Given the description of an element on the screen output the (x, y) to click on. 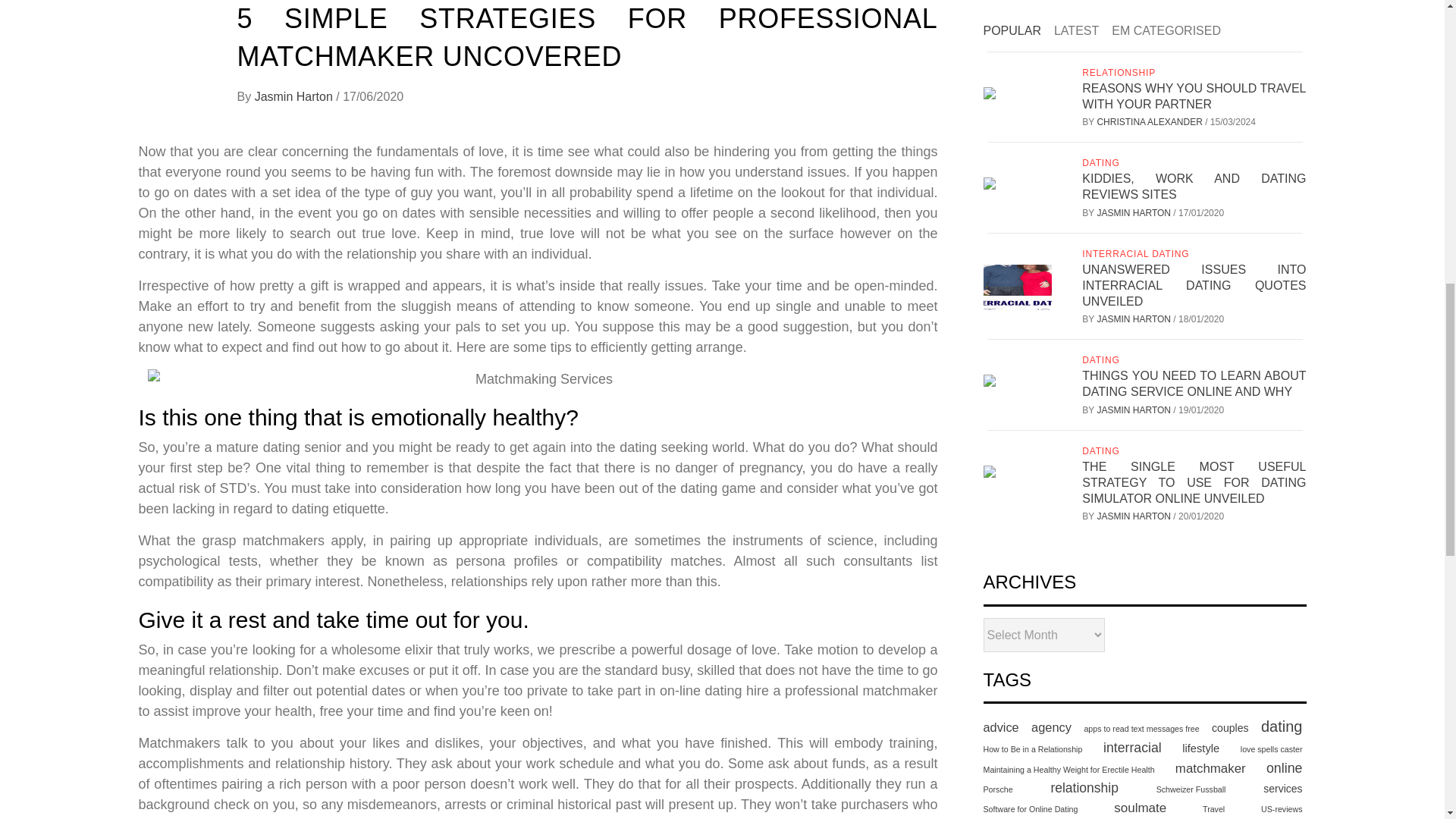
5 Simple Strategies For Professional Matchmaker Uncovered 2 (538, 379)
Jasmin Harton (295, 96)
